Given the description of an element on the screen output the (x, y) to click on. 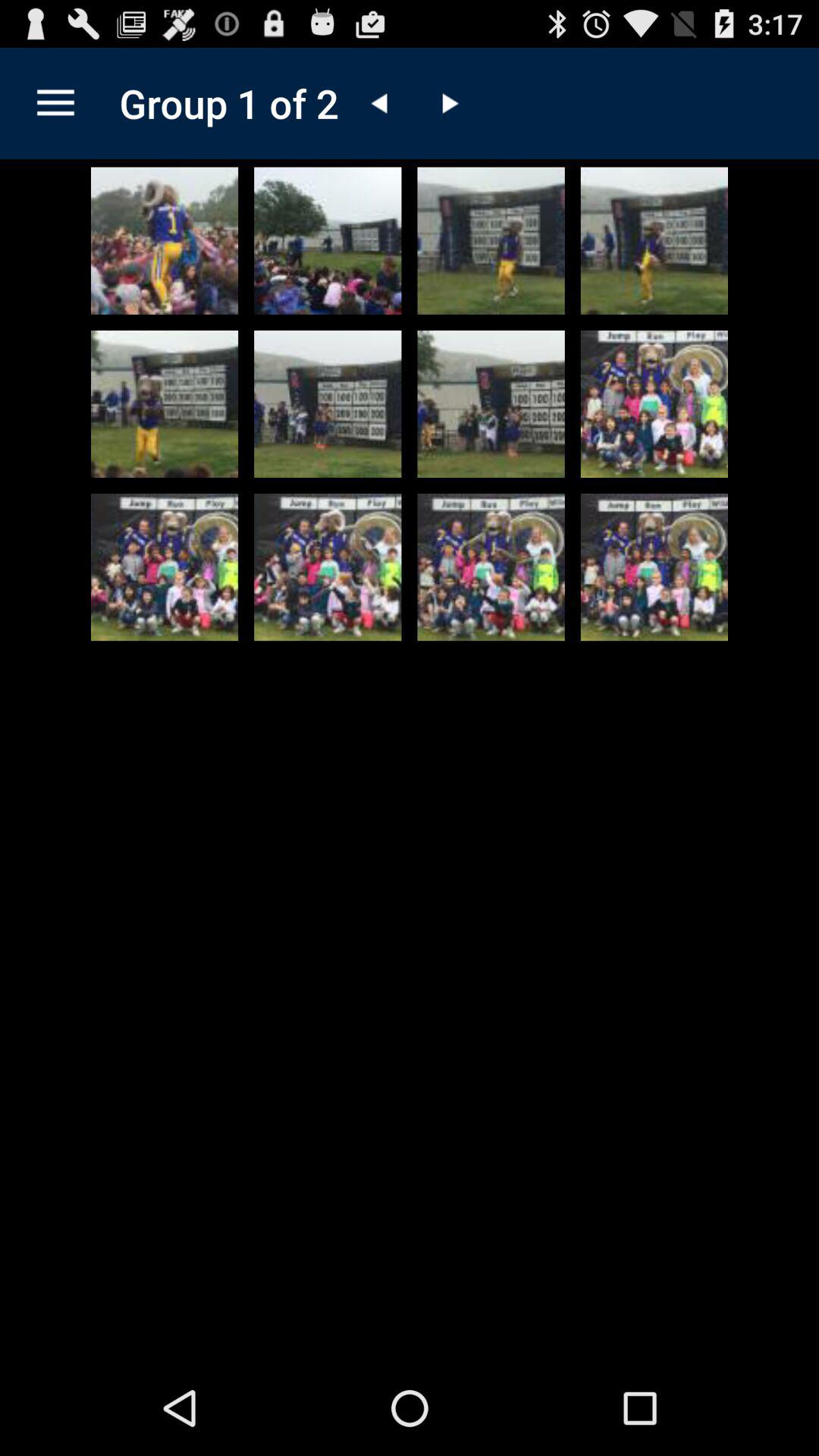
go to next group (448, 103)
